Given the description of an element on the screen output the (x, y) to click on. 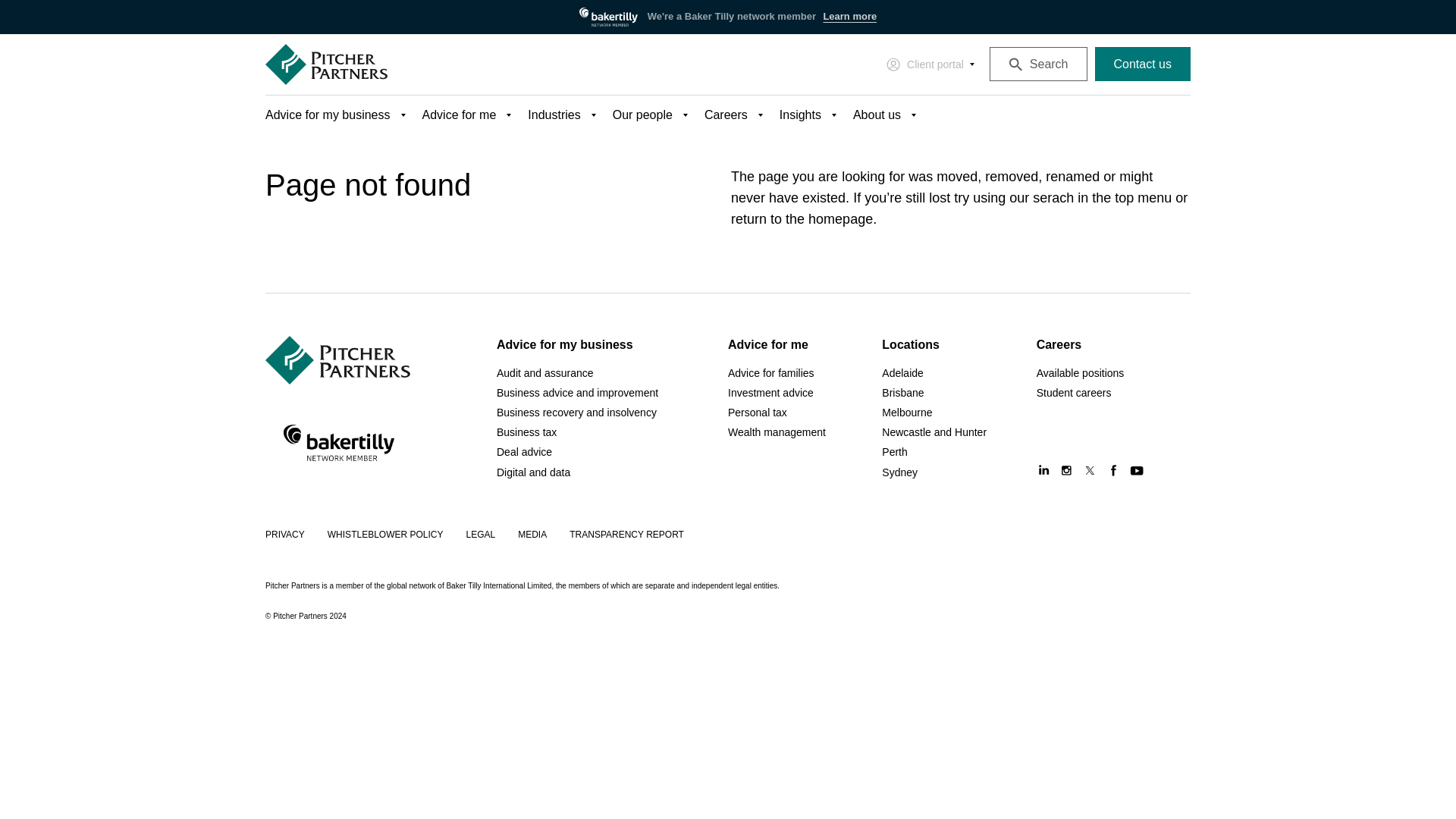
Learn more (849, 16)
Instagram (1066, 470)
LinkedIn (1043, 470)
